Given the description of an element on the screen output the (x, y) to click on. 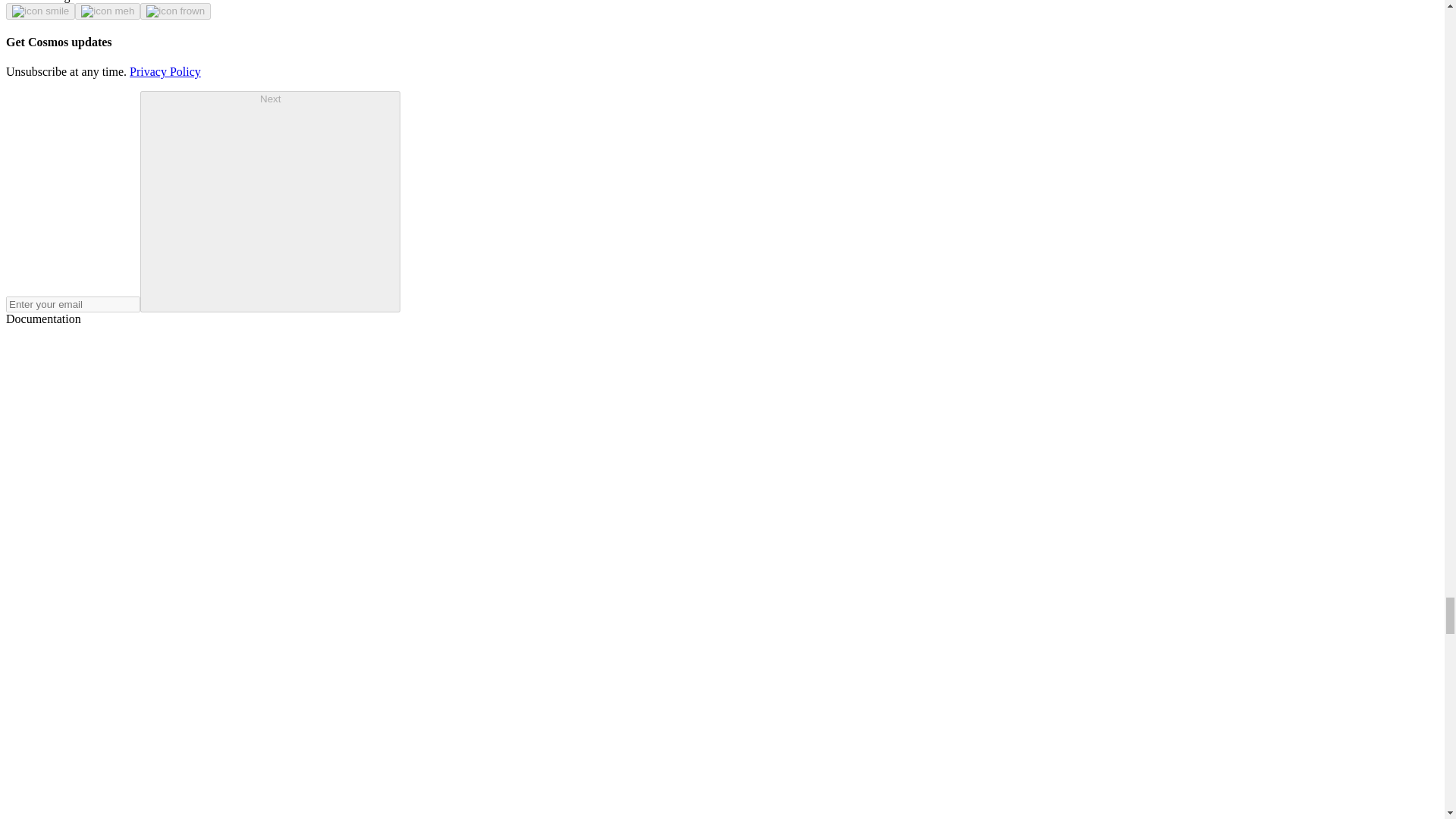
Privacy Policy (164, 71)
Next (269, 201)
